Given the description of an element on the screen output the (x, y) to click on. 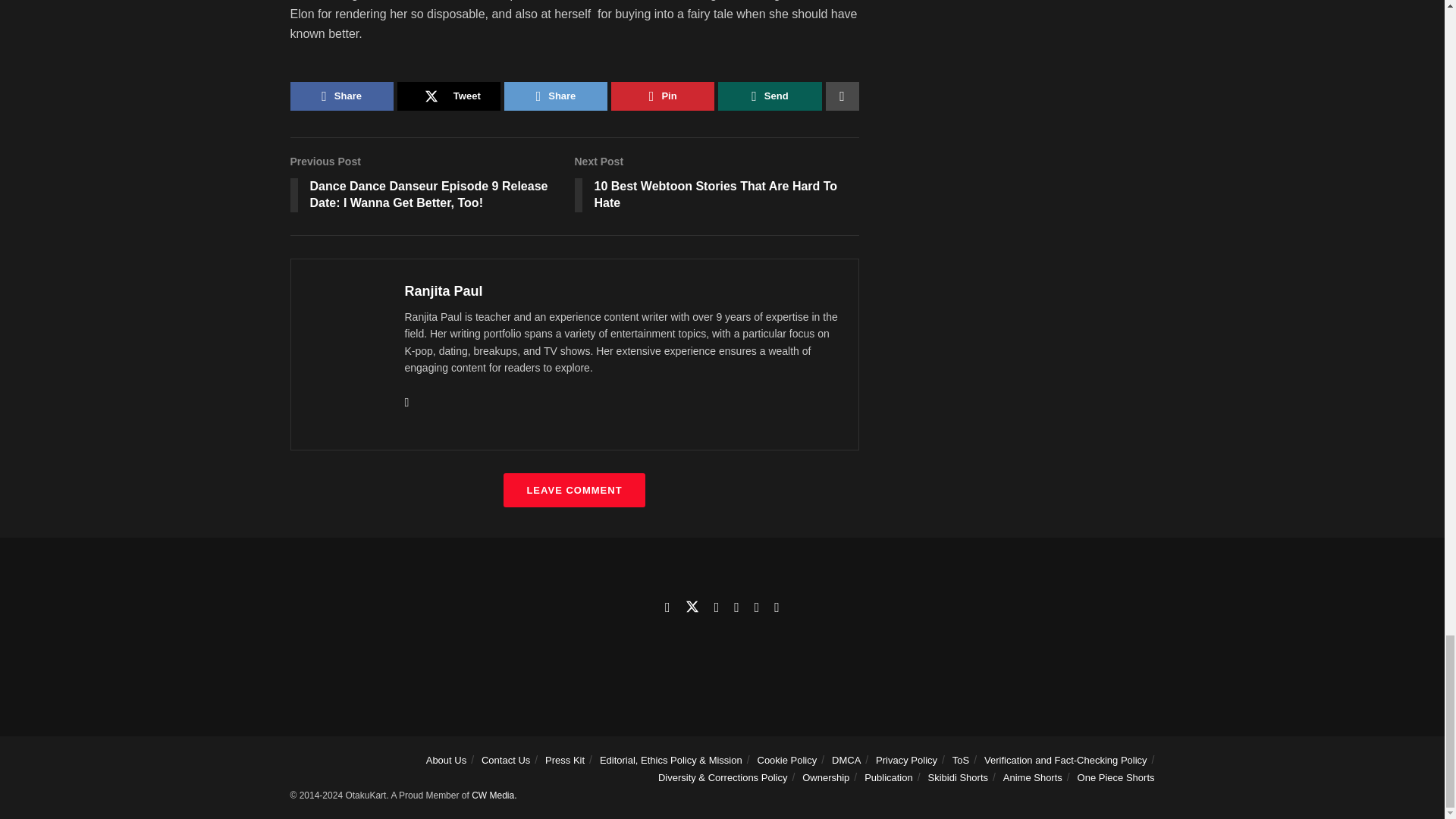
Pin (662, 95)
Share (555, 95)
Ranjita Paul (443, 290)
Tweet (448, 95)
Share (341, 95)
Send (769, 95)
